Given the description of an element on the screen output the (x, y) to click on. 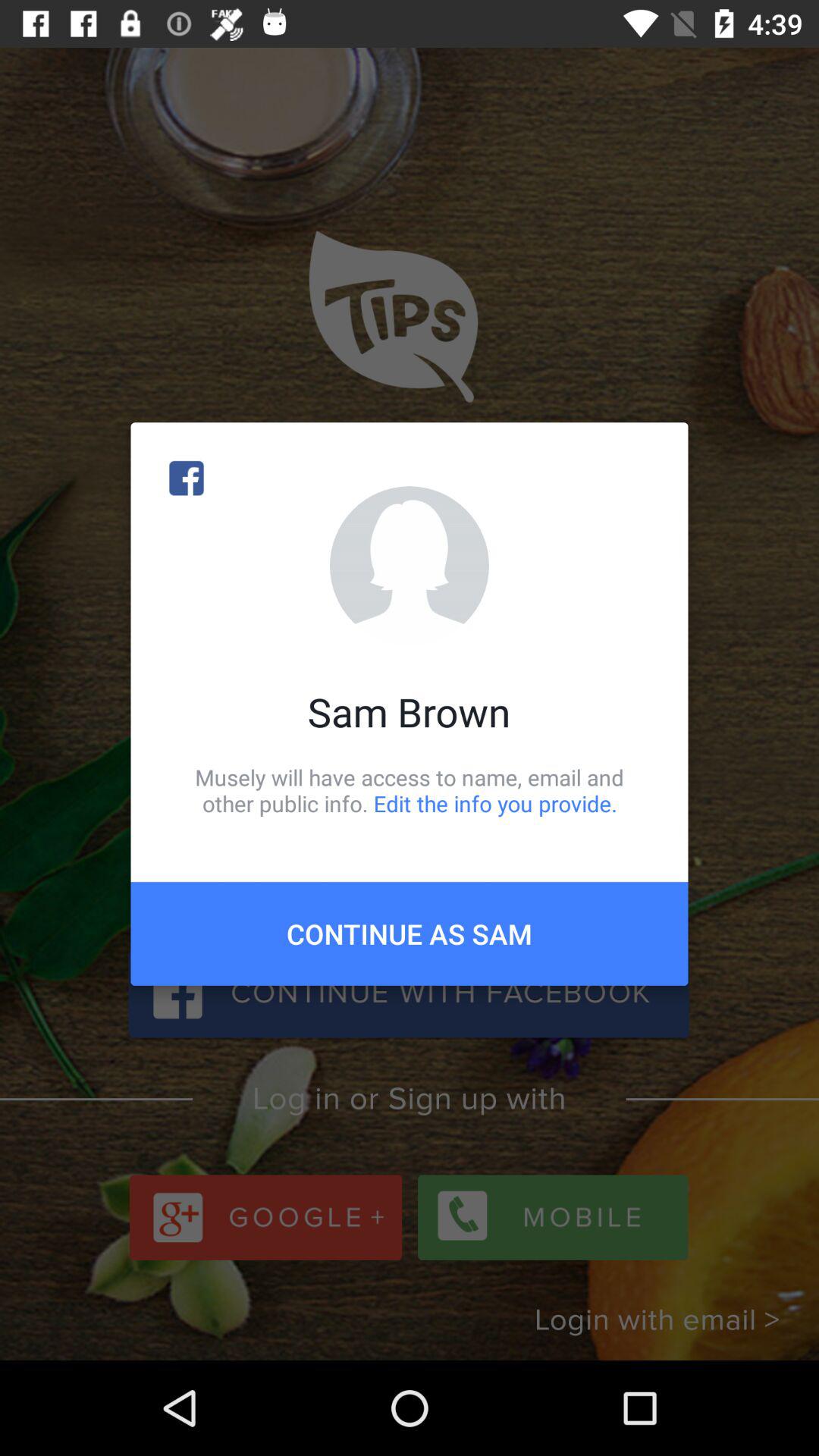
click icon above continue as sam (409, 790)
